Given the description of an element on the screen output the (x, y) to click on. 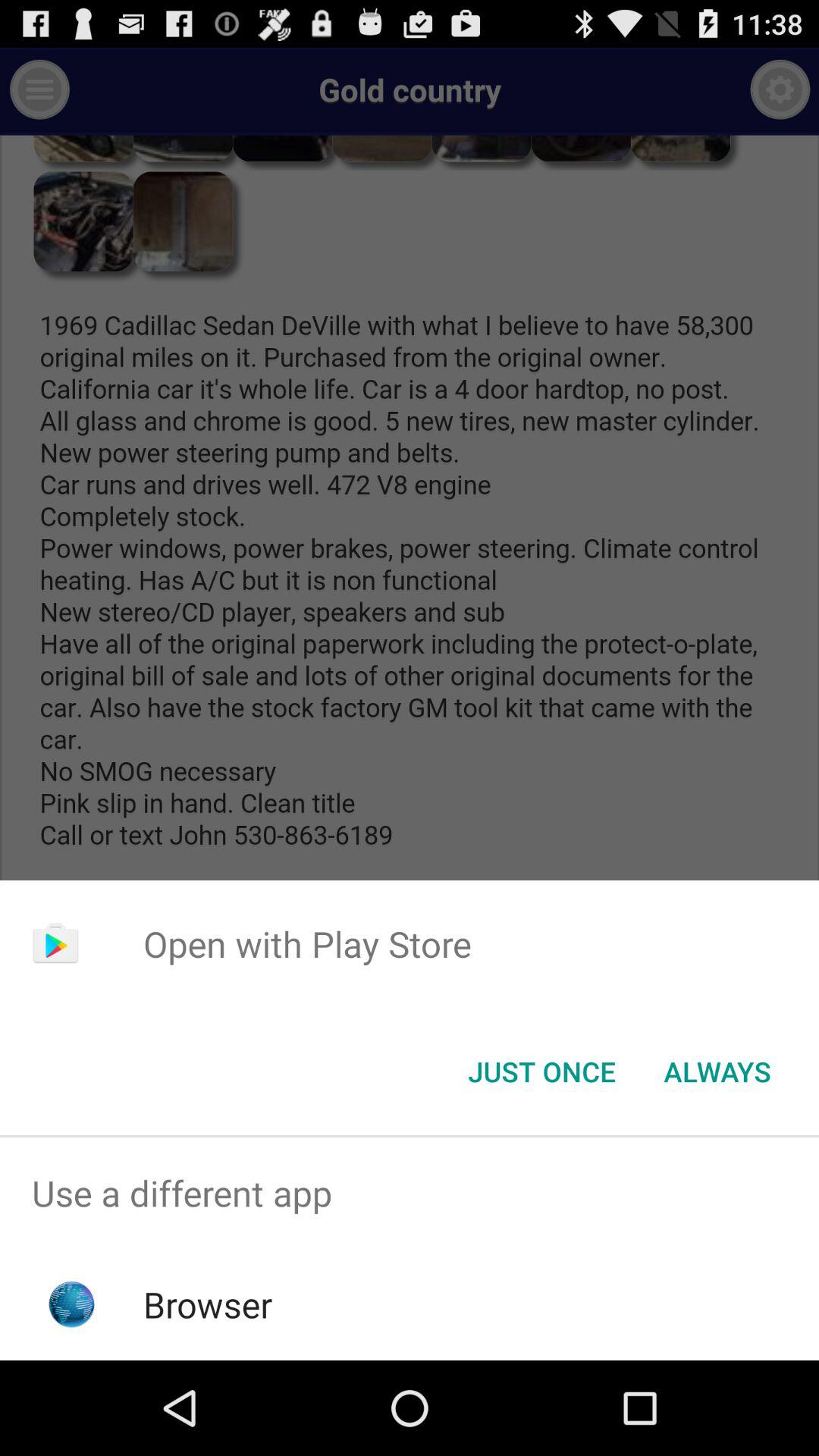
swipe to just once (541, 1071)
